Given the description of an element on the screen output the (x, y) to click on. 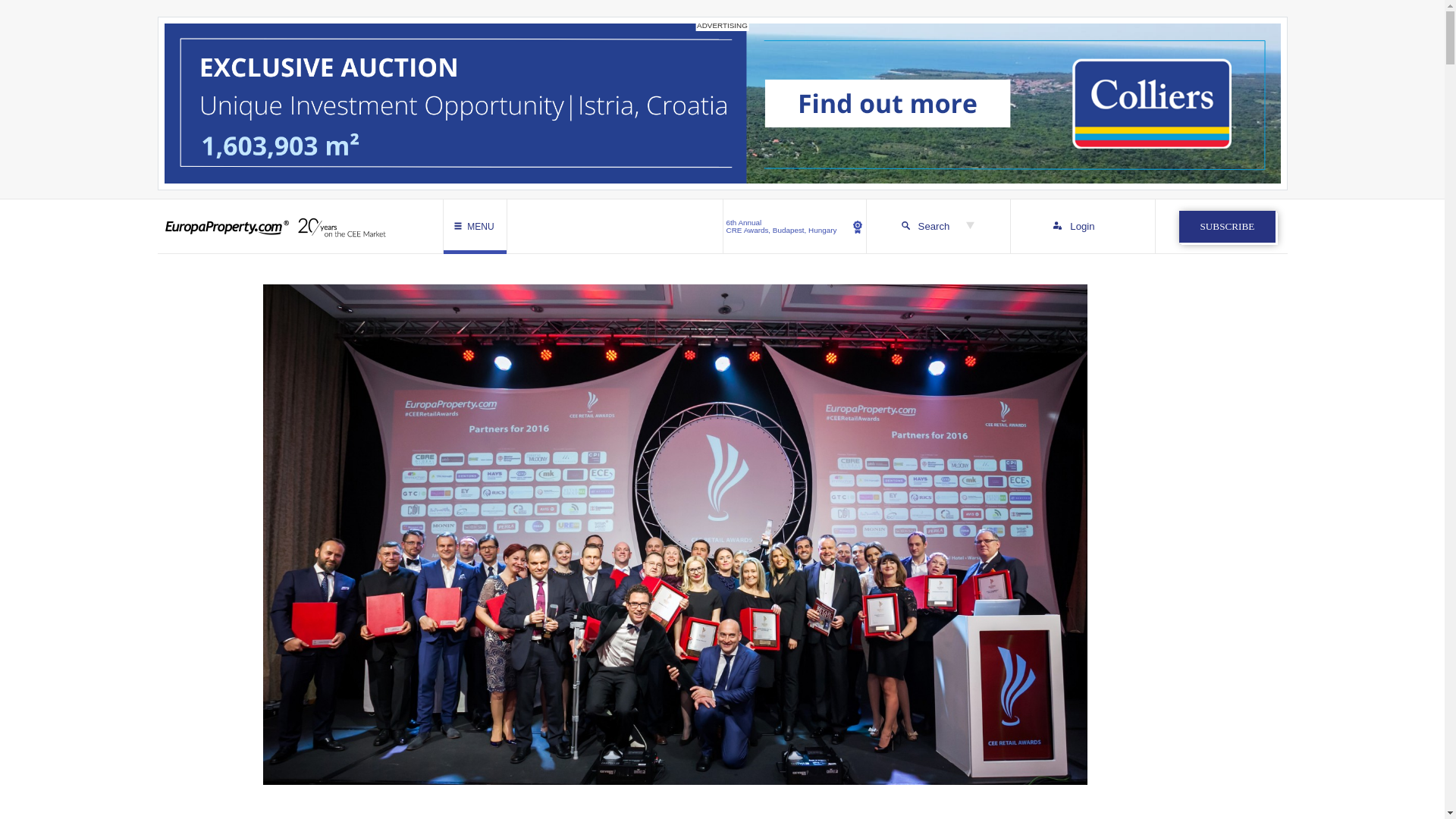
SUBSCRIBE (1227, 226)
Login (1082, 226)
